Given the description of an element on the screen output the (x, y) to click on. 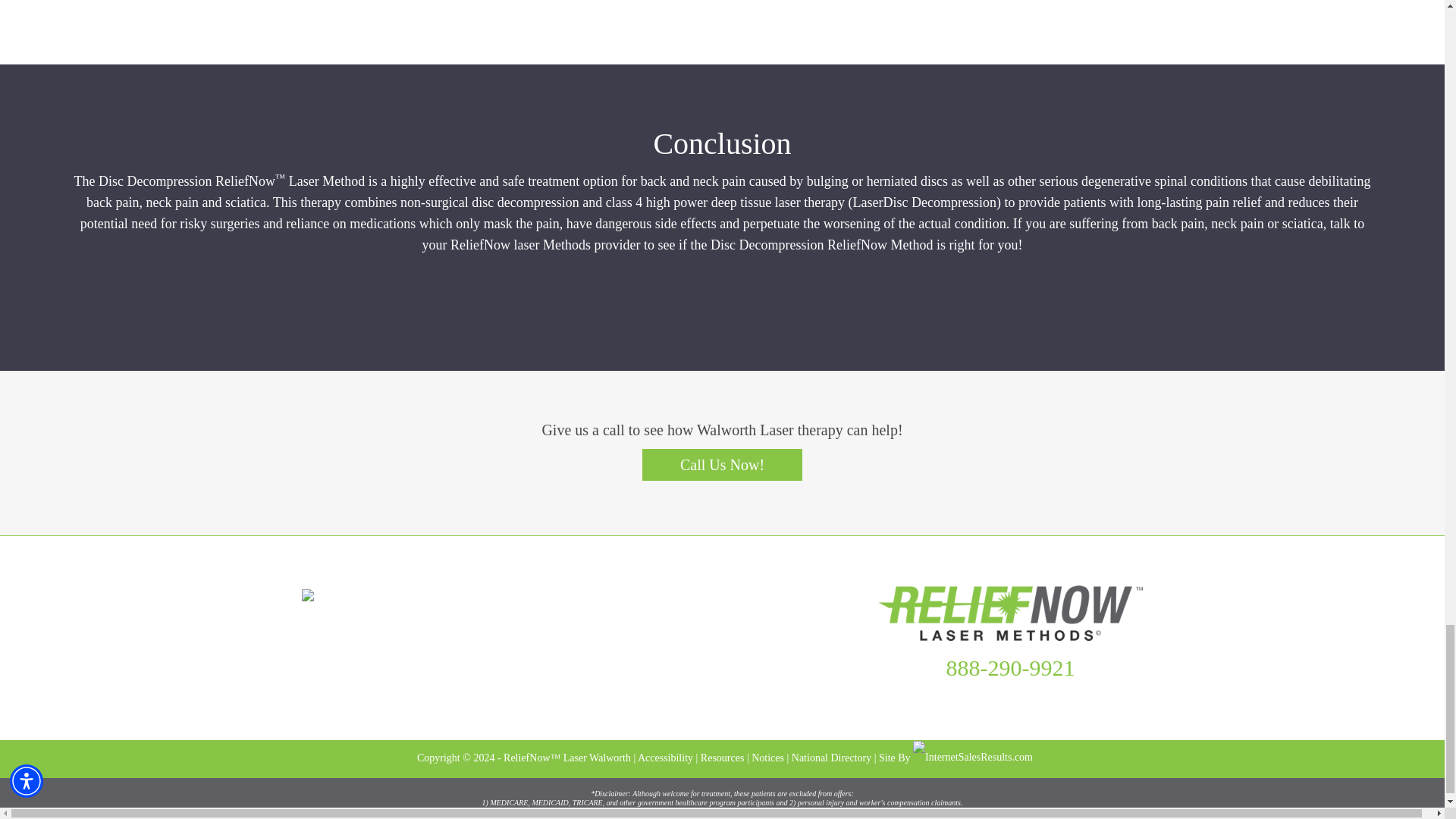
Site By (955, 757)
National Directory (831, 757)
Notices (767, 757)
Resources (722, 757)
Call Us Now! (722, 464)
Accessibility (665, 757)
